Given the description of an element on the screen output the (x, y) to click on. 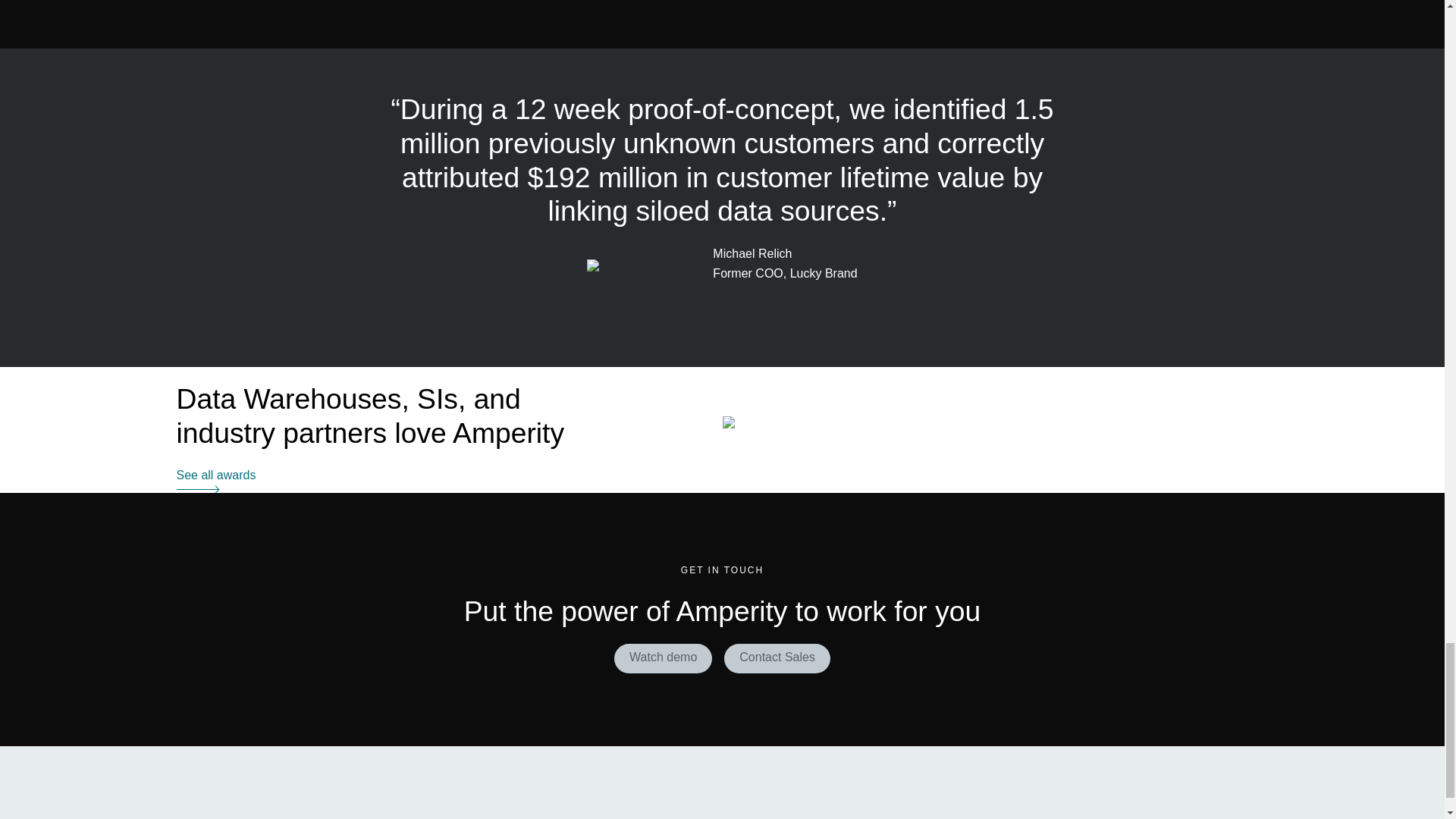
Contact Sales (776, 658)
Contact Sales (776, 656)
See all awards (216, 479)
See all awards (216, 474)
Watch demo (662, 658)
